Given the description of an element on the screen output the (x, y) to click on. 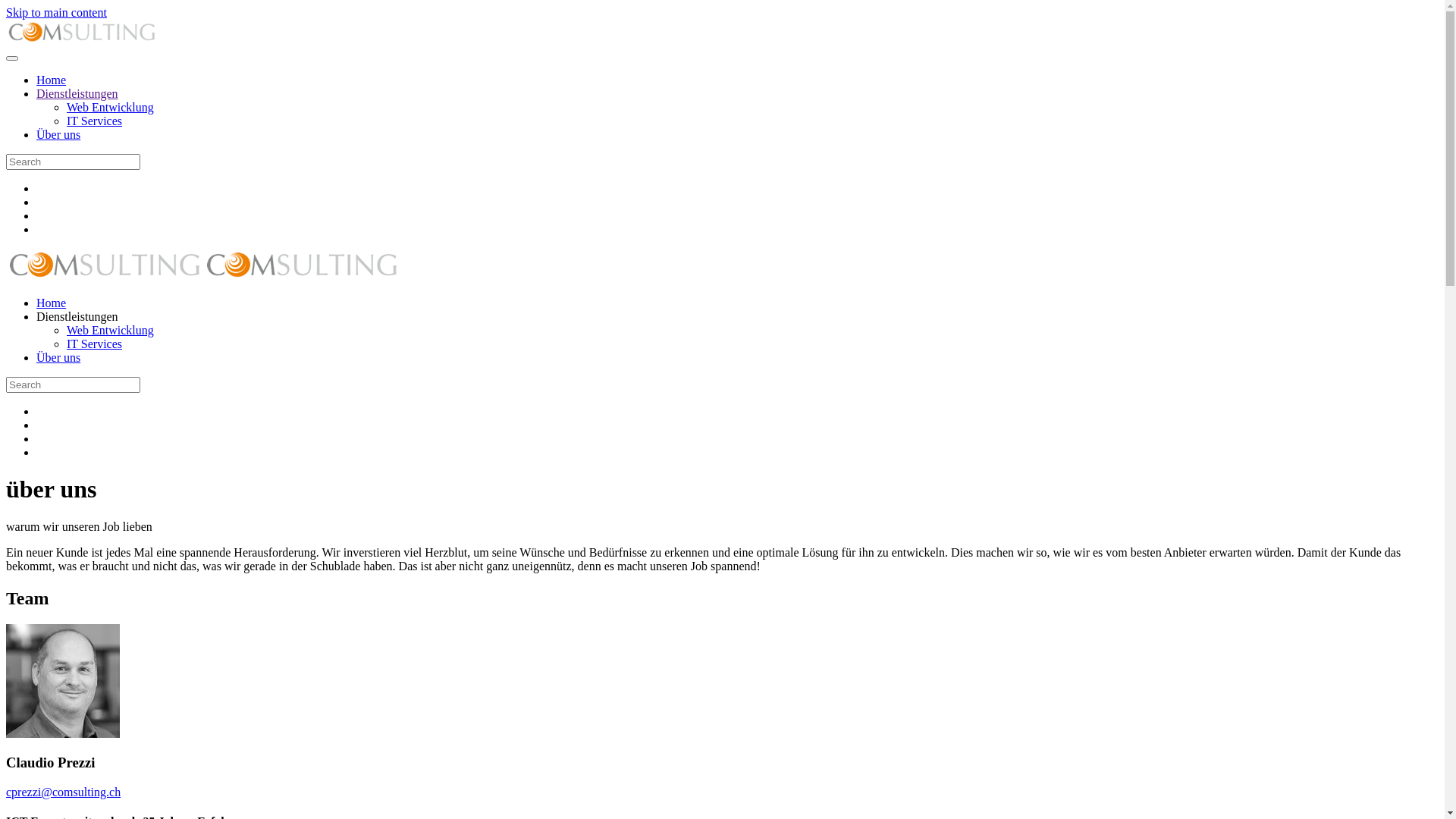
IT Services Element type: text (94, 120)
IT Services Element type: text (94, 343)
Dienstleistungen Element type: text (77, 316)
Dienstleistungen Element type: text (77, 93)
Skip to main content Element type: text (56, 12)
Home Element type: text (50, 302)
Home Element type: text (50, 79)
cprezzi@comsulting.ch Element type: text (63, 791)
